Given the description of an element on the screen output the (x, y) to click on. 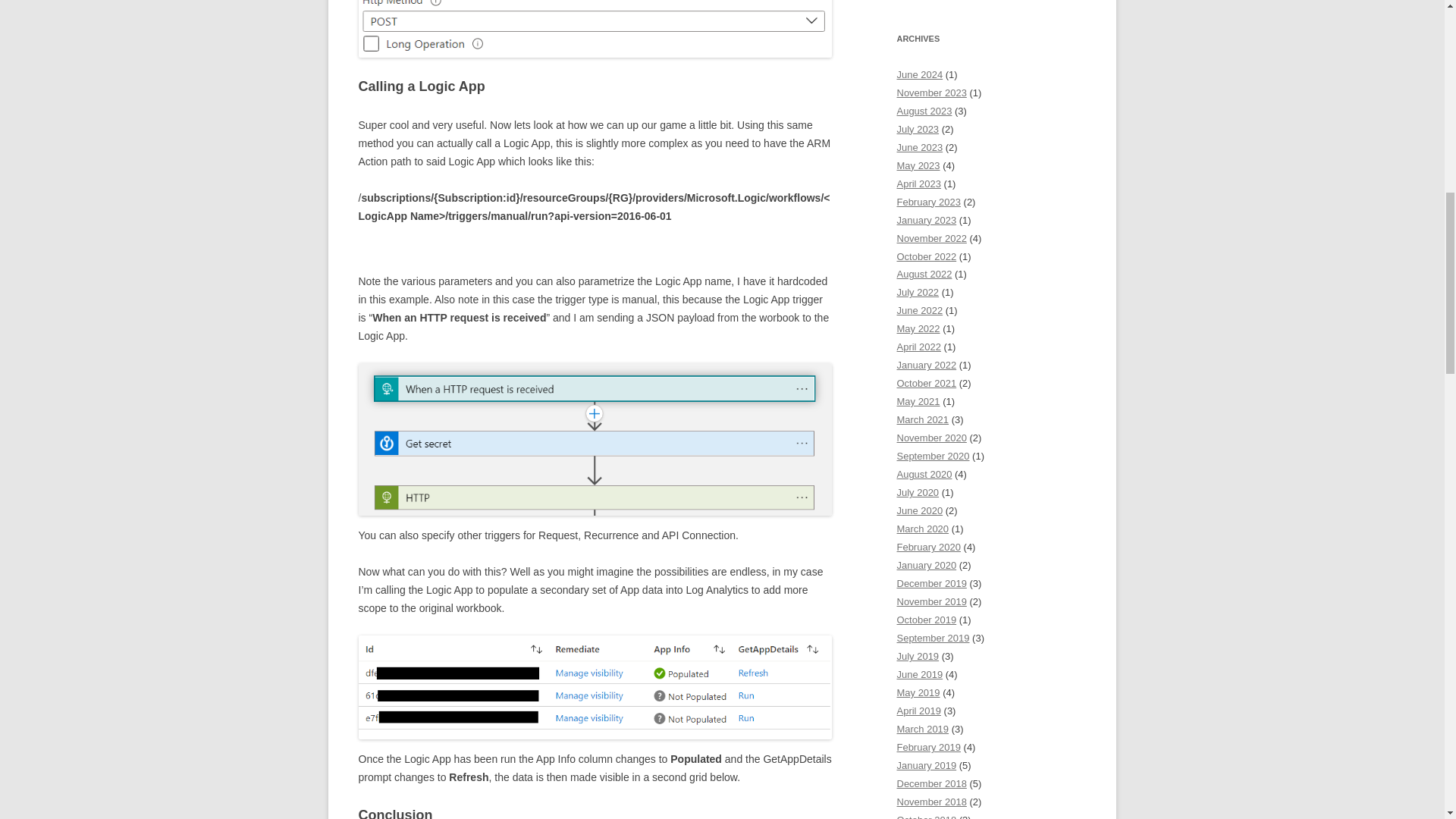
November 2022 (931, 238)
June 2023 (919, 147)
May 2023 (917, 165)
November 2023 (931, 92)
October 2022 (926, 255)
January 2023 (926, 220)
August 2023 (924, 111)
February 2023 (927, 202)
June 2024 (919, 74)
April 2023 (918, 183)
